Given the description of an element on the screen output the (x, y) to click on. 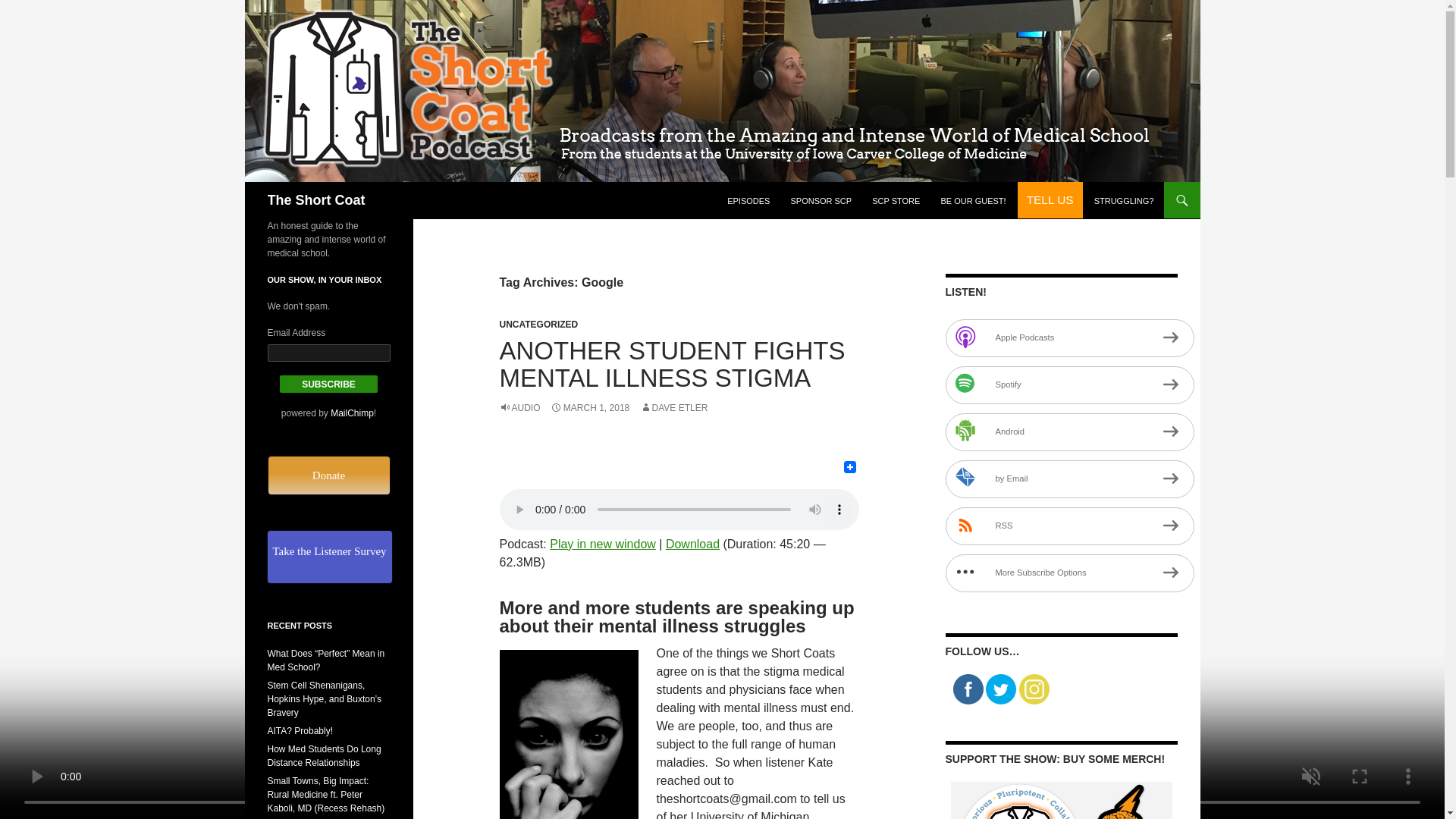
Download (692, 543)
Play in new window (603, 543)
EPISODES (747, 200)
BE OUR GUEST! (972, 200)
STRUGGLING? (1123, 200)
Download (692, 543)
DAVE ETLER (673, 407)
UNCATEGORIZED (538, 324)
MARCH 1, 2018 (589, 407)
